Given the description of an element on the screen output the (x, y) to click on. 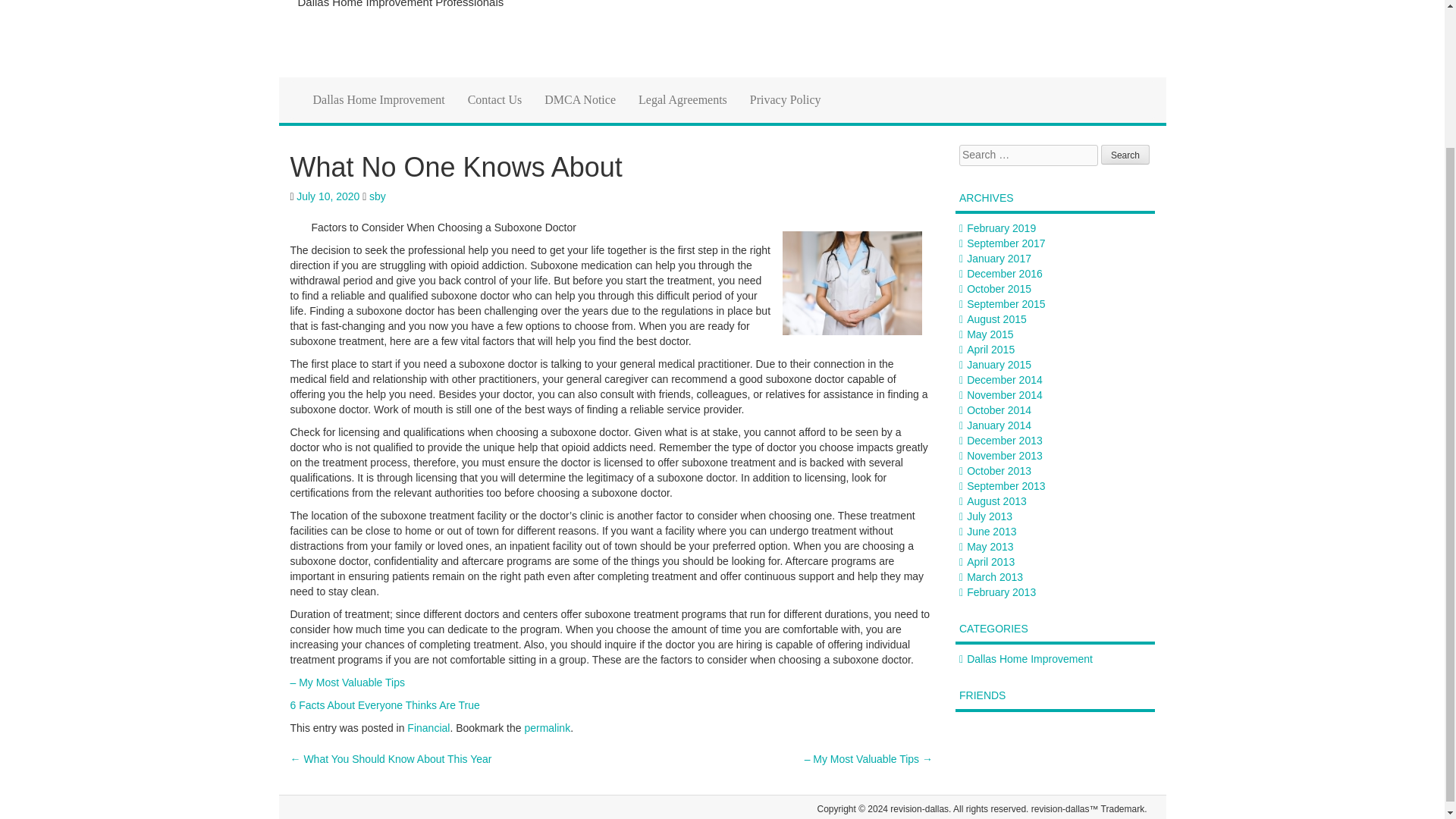
September 2015 (1005, 304)
Search (1125, 154)
Search (1125, 154)
September 2013 (1005, 485)
Contact Us (495, 99)
Privacy Policy (785, 99)
October 2014 (998, 410)
DMCA Notice (579, 99)
View all posts filed under Dallas Home Improvement (1029, 658)
September 2017 (1005, 243)
